Given the description of an element on the screen output the (x, y) to click on. 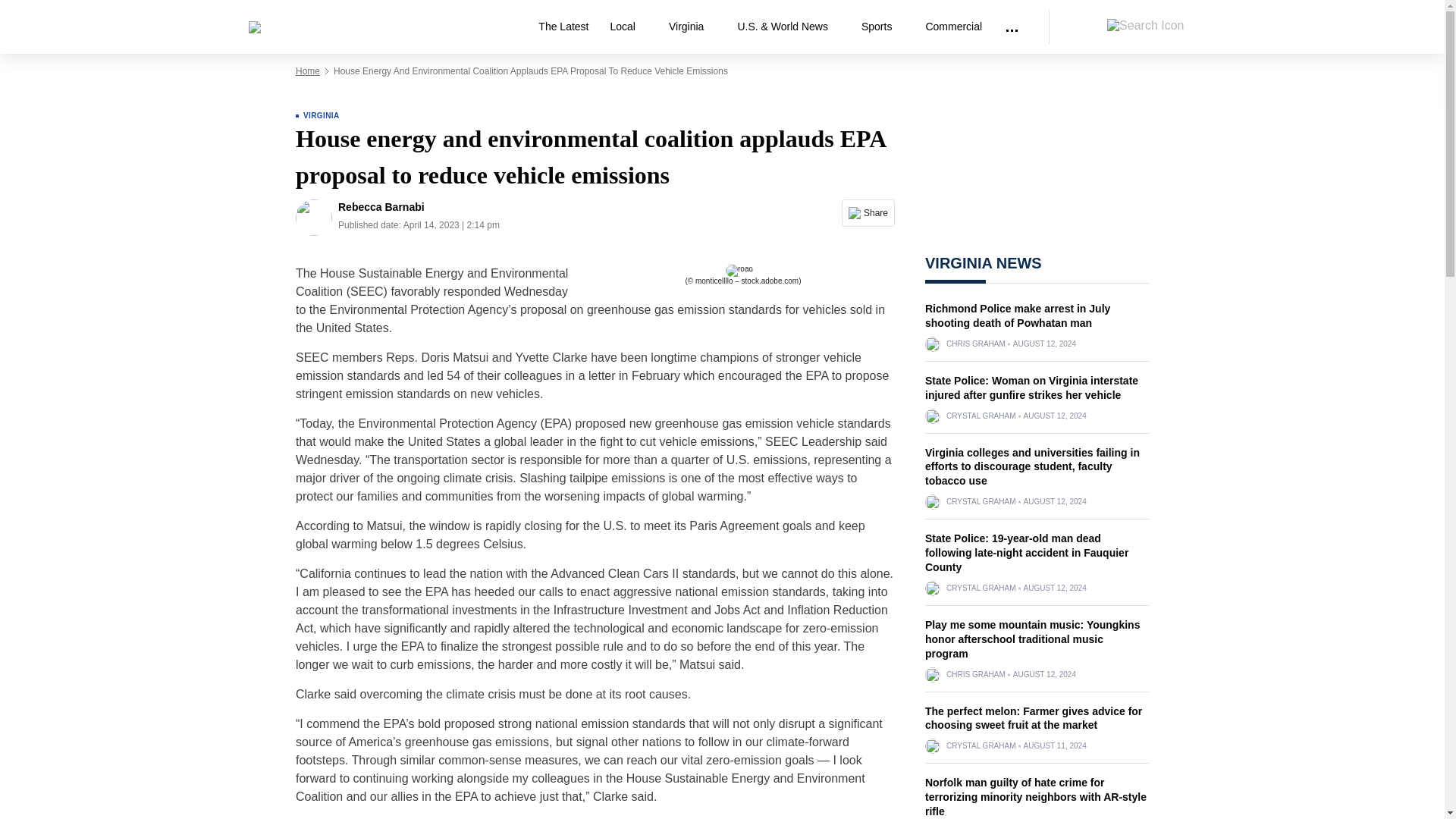
Commercial (953, 27)
Virginia (692, 27)
The Latest (562, 27)
Local (628, 27)
Sports (882, 27)
